Given the description of an element on the screen output the (x, y) to click on. 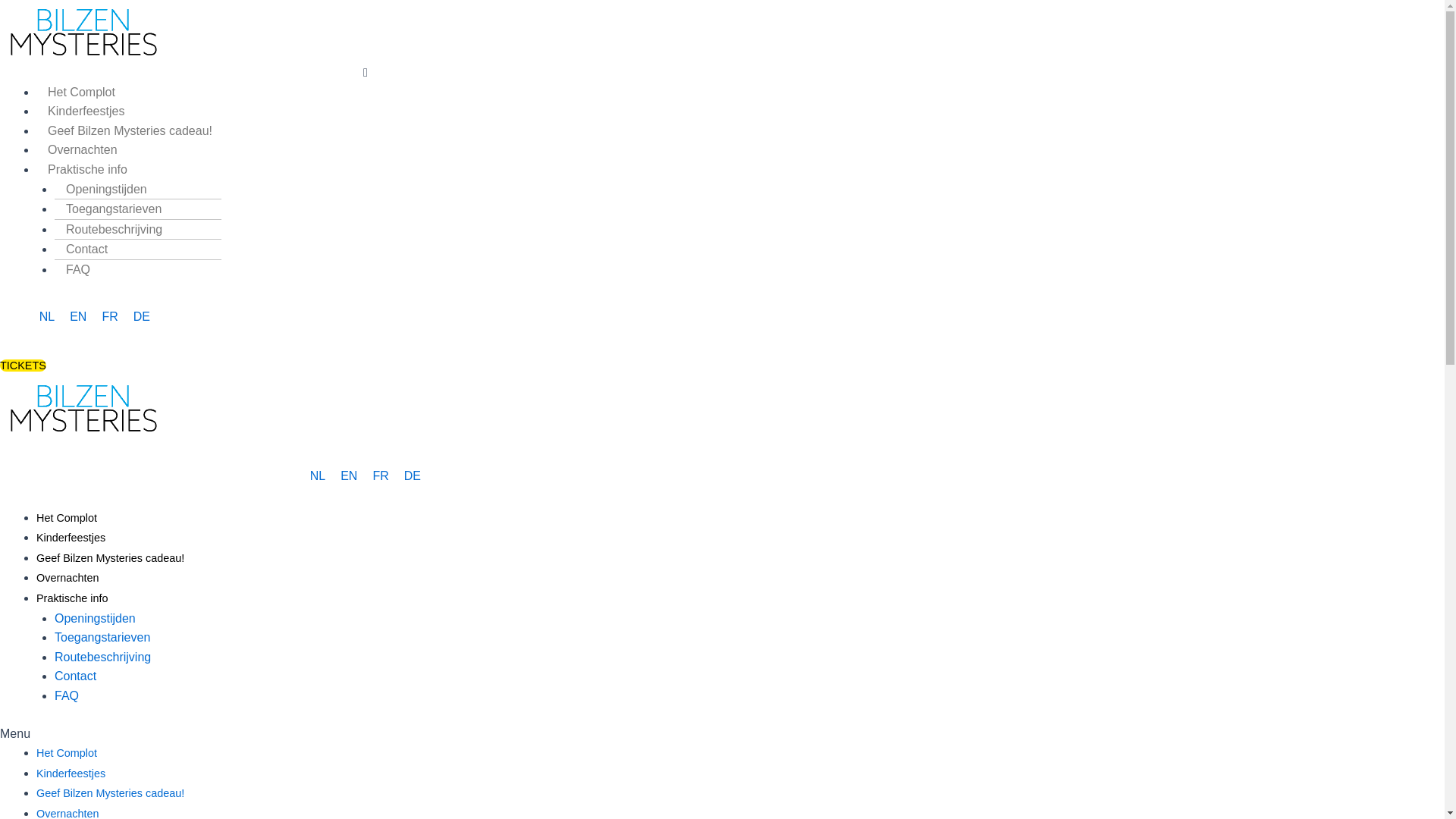
Toegangstarieven Element type: text (113, 208)
Geef Bilzen Mysteries cadeau! Element type: text (129, 130)
EN Element type: text (78, 316)
FAQ Element type: text (66, 695)
EN Element type: text (348, 475)
Contact Element type: text (86, 248)
NL Element type: text (46, 316)
TICKETS Element type: text (23, 365)
Geef Bilzen Mysteries cadeau! Element type: text (110, 558)
Routebeschrijving Element type: text (113, 229)
Routebeschrijving Element type: text (102, 656)
Openingstijden Element type: text (106, 189)
Geef Bilzen Mysteries cadeau! Element type: text (110, 793)
Praktische info Element type: text (87, 169)
Praktische info Element type: text (71, 598)
FAQ Element type: text (77, 269)
DE Element type: text (412, 475)
Het Complot Element type: text (66, 517)
Contact Element type: text (75, 675)
Overnachten Element type: text (82, 149)
Het Complot Element type: text (81, 91)
Toegangstarieven Element type: text (102, 636)
Kinderfeestjes Element type: text (70, 773)
Het Complot Element type: text (66, 752)
Overnachten Element type: text (67, 577)
FR Element type: text (379, 475)
Openingstijden Element type: text (94, 617)
NL Element type: text (317, 475)
DE Element type: text (141, 316)
Kinderfeestjes Element type: text (70, 537)
Kinderfeestjes Element type: text (85, 110)
FR Element type: text (109, 316)
